Given the description of an element on the screen output the (x, y) to click on. 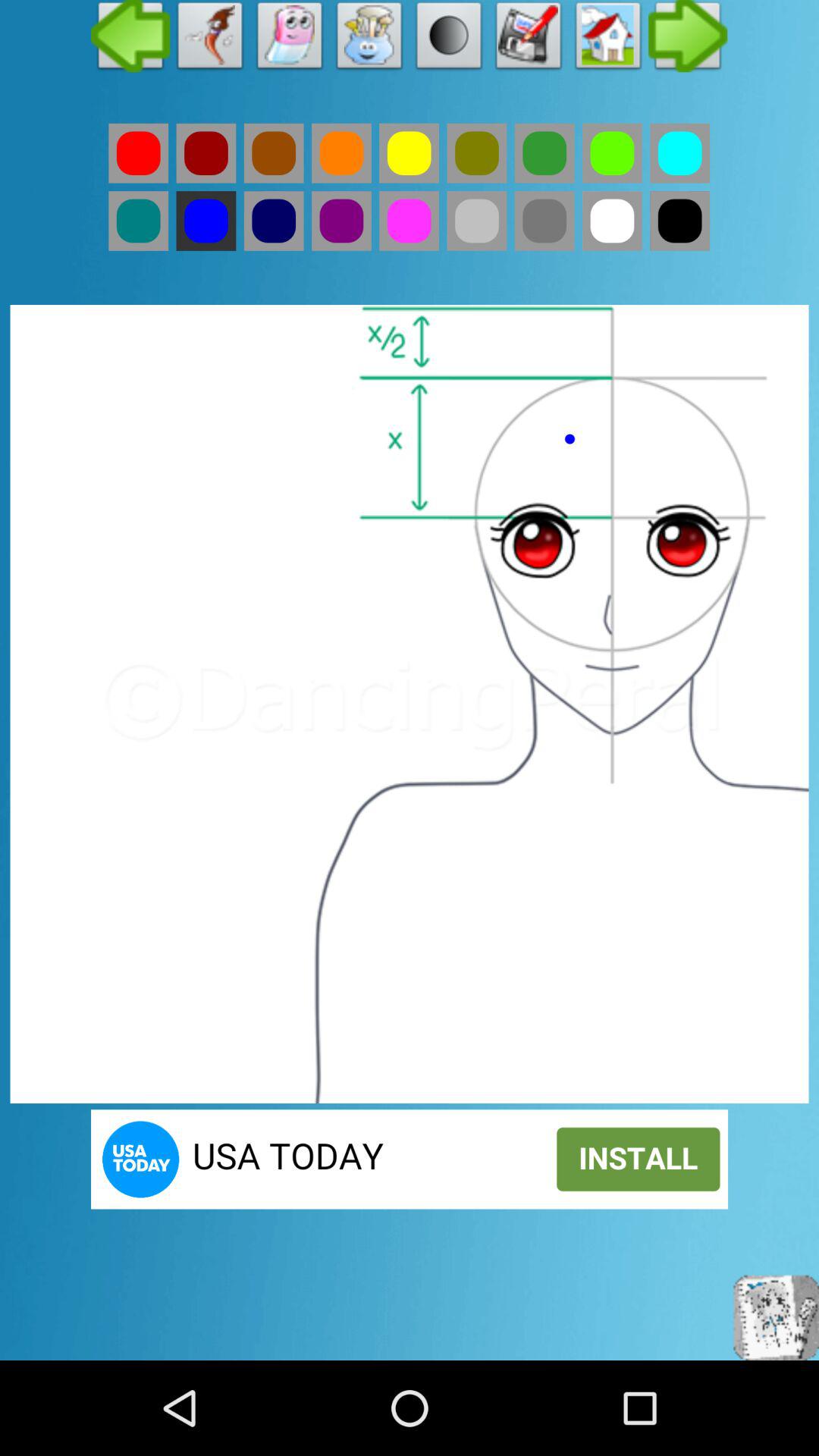
select navy blue (273, 220)
